Given the description of an element on the screen output the (x, y) to click on. 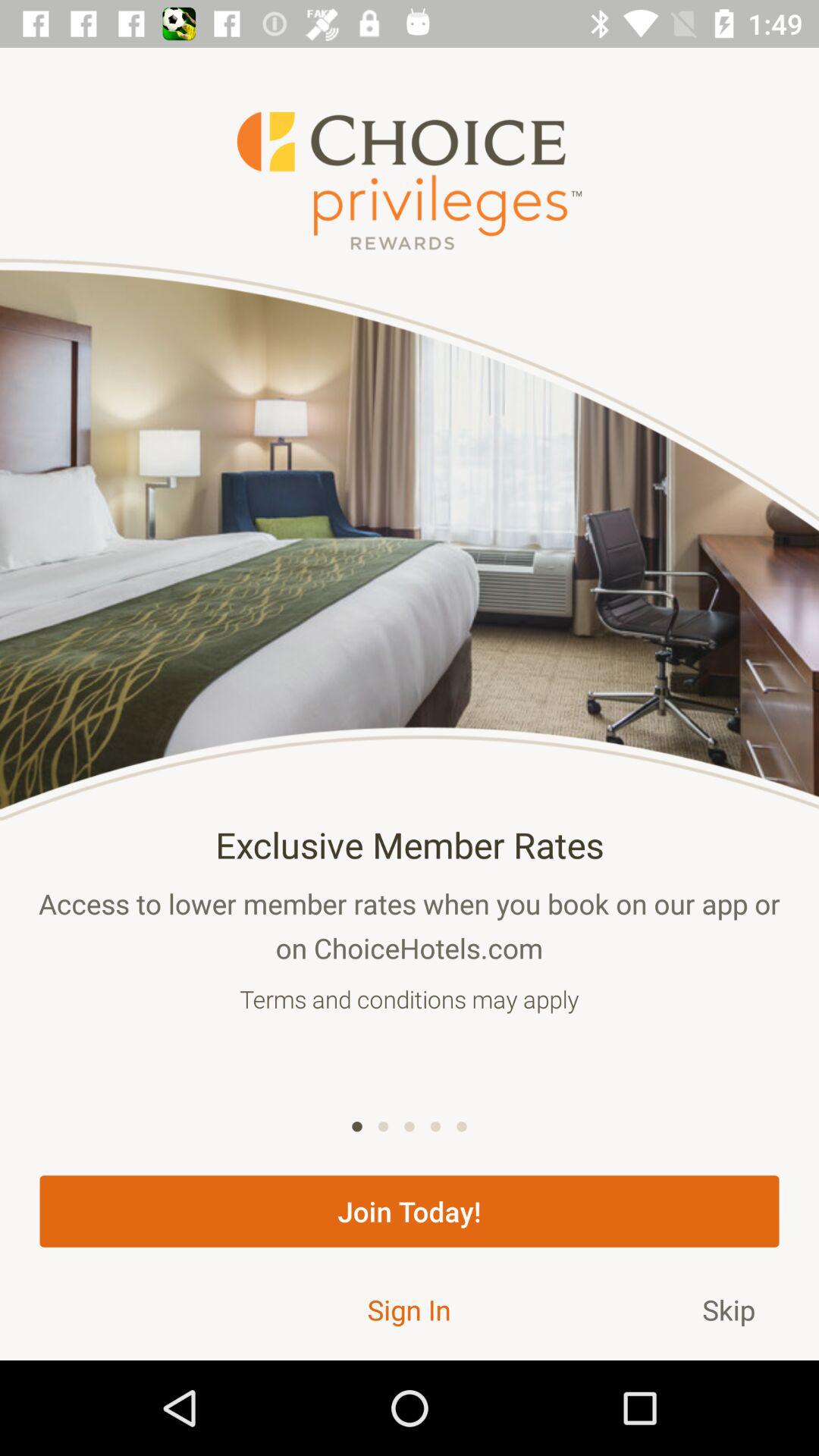
jump until the join today! item (409, 1211)
